Given the description of an element on the screen output the (x, y) to click on. 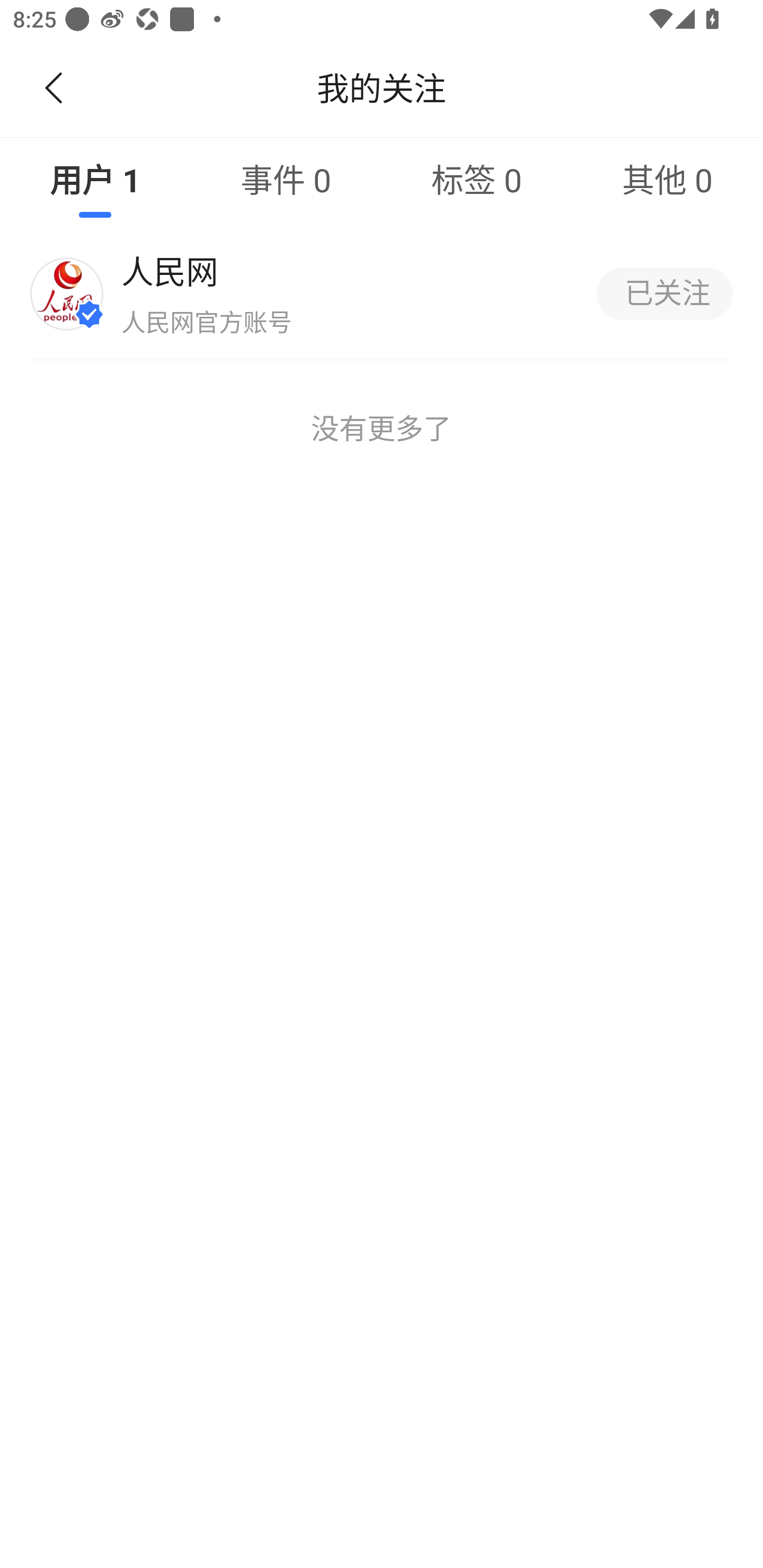
返回，可点击 (49, 87)
已选中用户&nbsp;1 (95, 179)
事件&nbsp;0，可选中 (285, 179)
标签&nbsp;0，可选中 (476, 179)
其他&nbsp;0，可选中 (667, 179)
头像，可点击 用户：人民网 人民网官方账号 已关注 (381, 293)
头像，可点击 用户：人民网 人民网官方账号 已关注 (381, 293)
已关注 (664, 293)
